Given the description of an element on the screen output the (x, y) to click on. 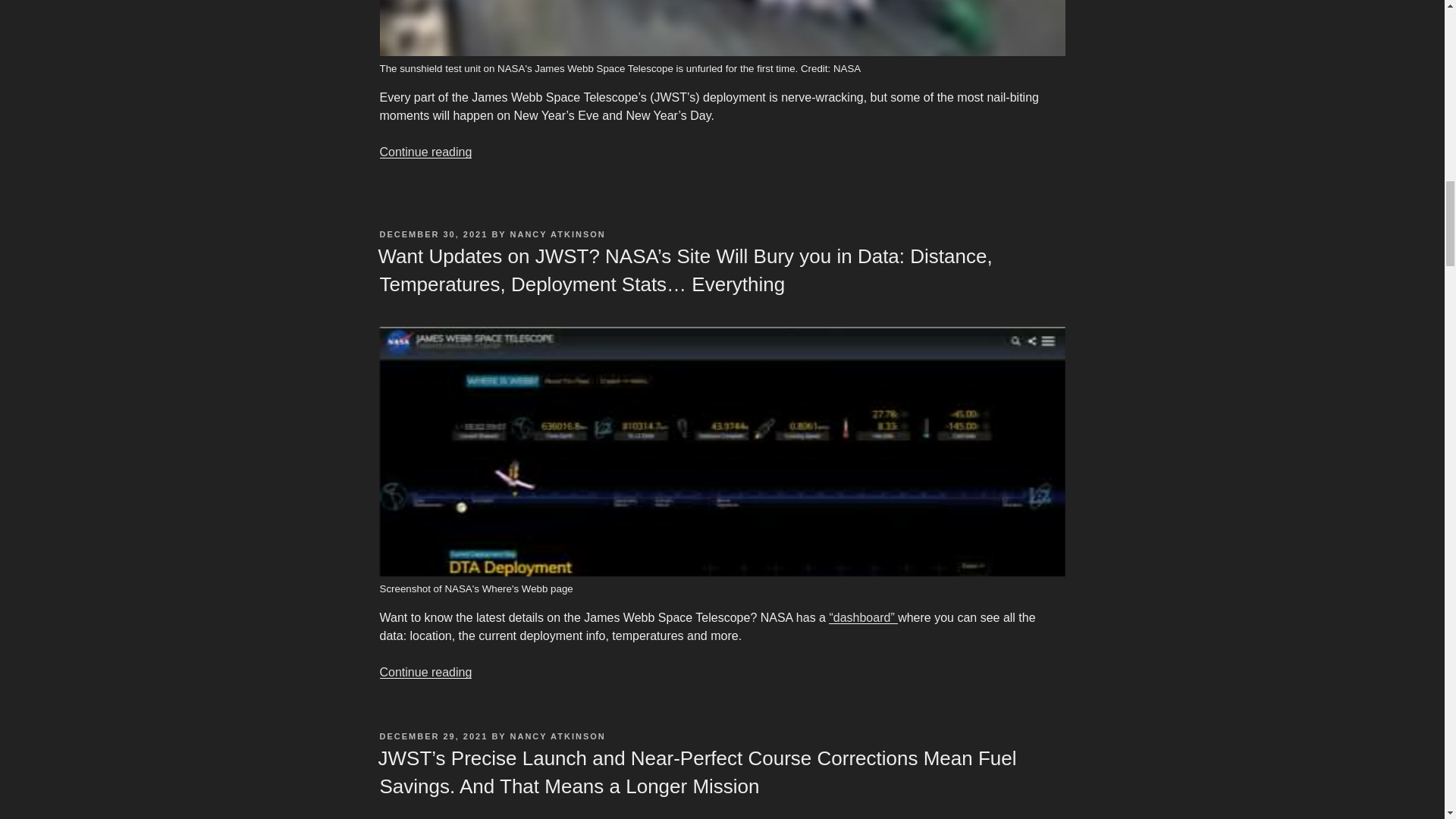
DECEMBER 30, 2021 (432, 234)
DECEMBER 29, 2021 (432, 736)
NANCY ATKINSON (558, 234)
NANCY ATKINSON (558, 736)
